Given the description of an element on the screen output the (x, y) to click on. 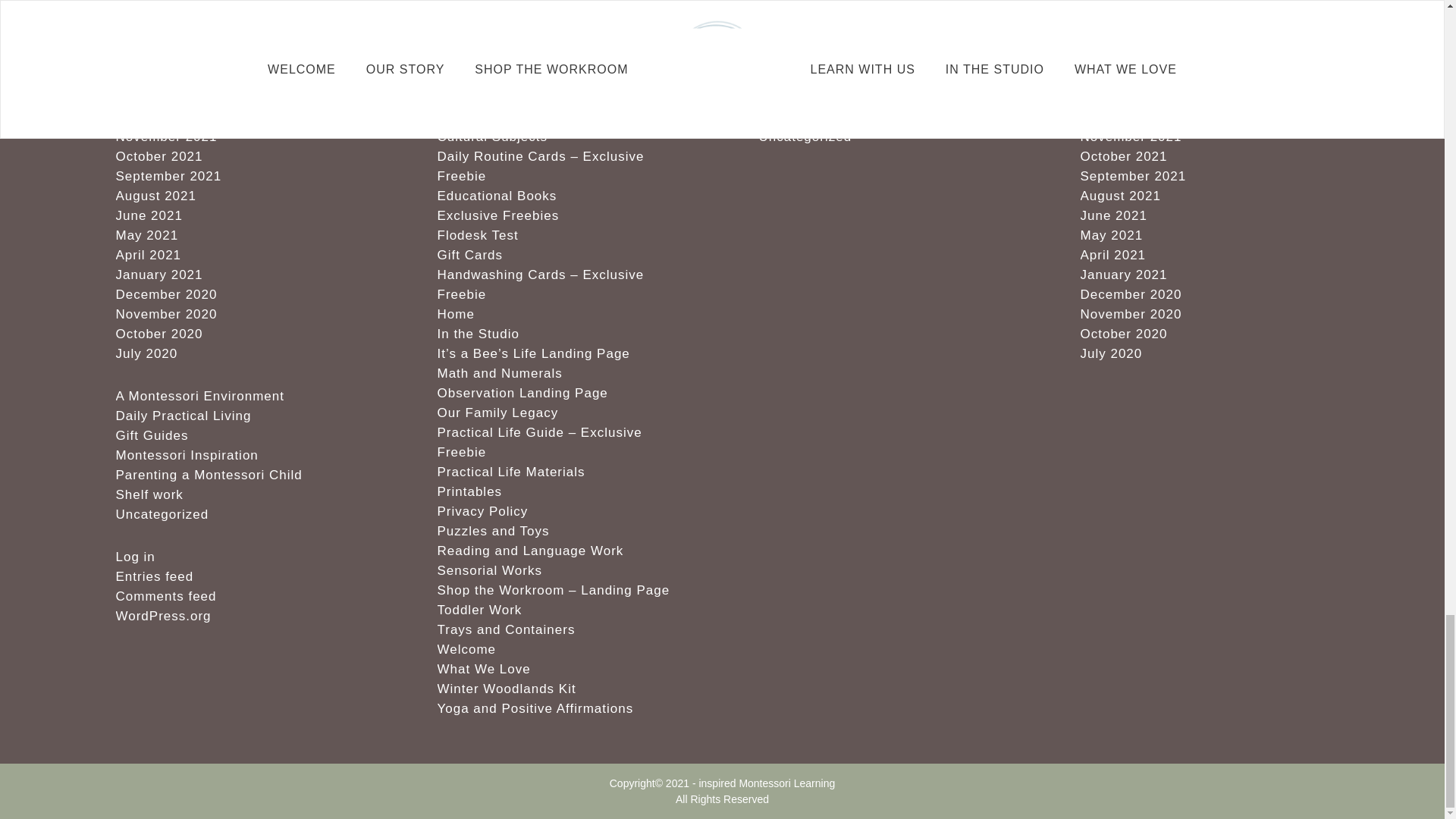
January 2023 (158, 116)
April 2023 (147, 57)
September 2021 (168, 175)
November 2021 (165, 136)
July 2023 (146, 18)
February 2023 (162, 97)
August 2021 (155, 196)
March 2023 (152, 77)
June 2023 (148, 38)
October 2021 (158, 156)
